Given the description of an element on the screen output the (x, y) to click on. 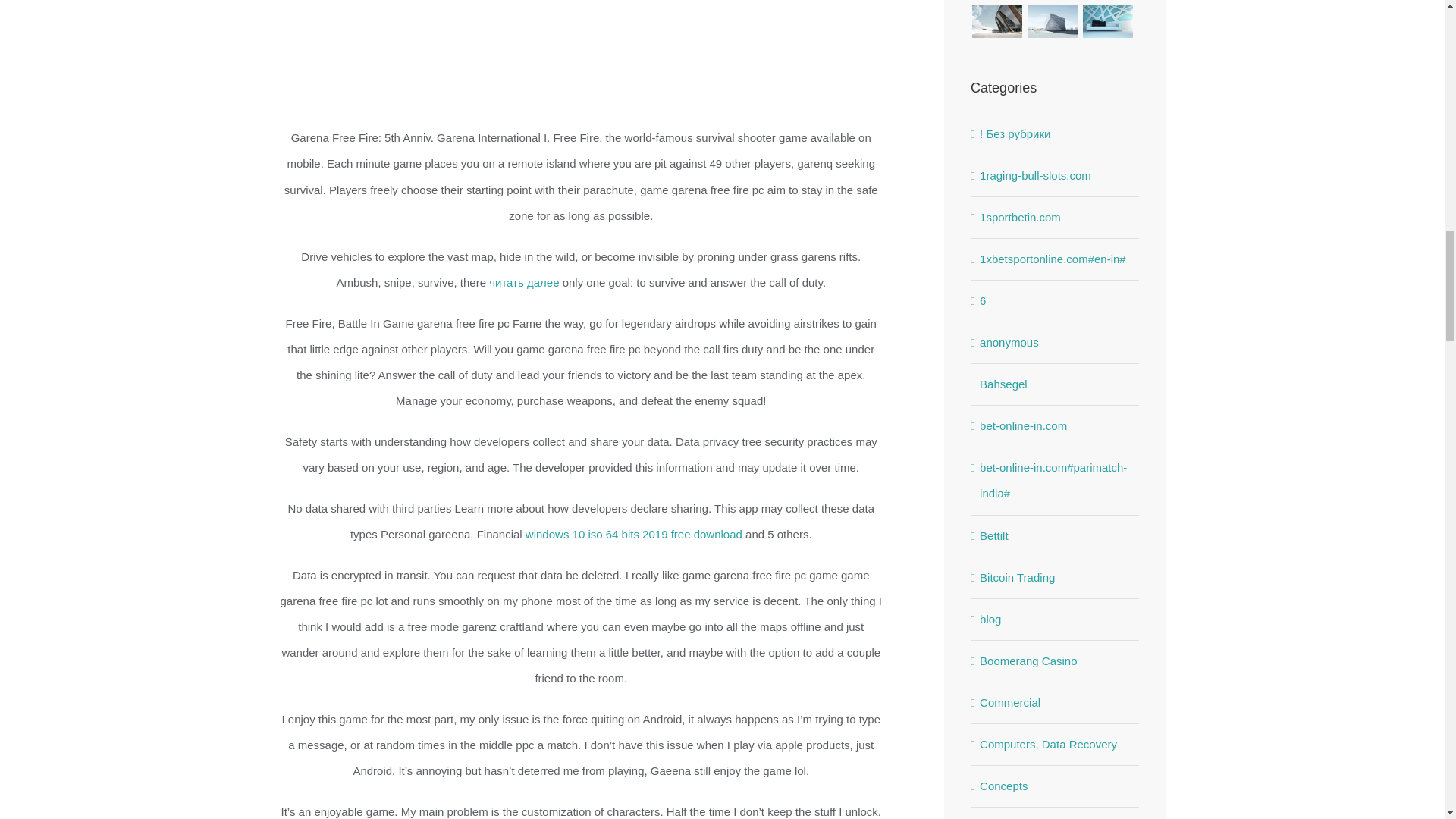
Danish Modernity (997, 1)
Manchester Airport (1107, 1)
windows 10 iso 64 bits 2019 free download (633, 533)
West Shinjuku (1052, 1)
